Given the description of an element on the screen output the (x, y) to click on. 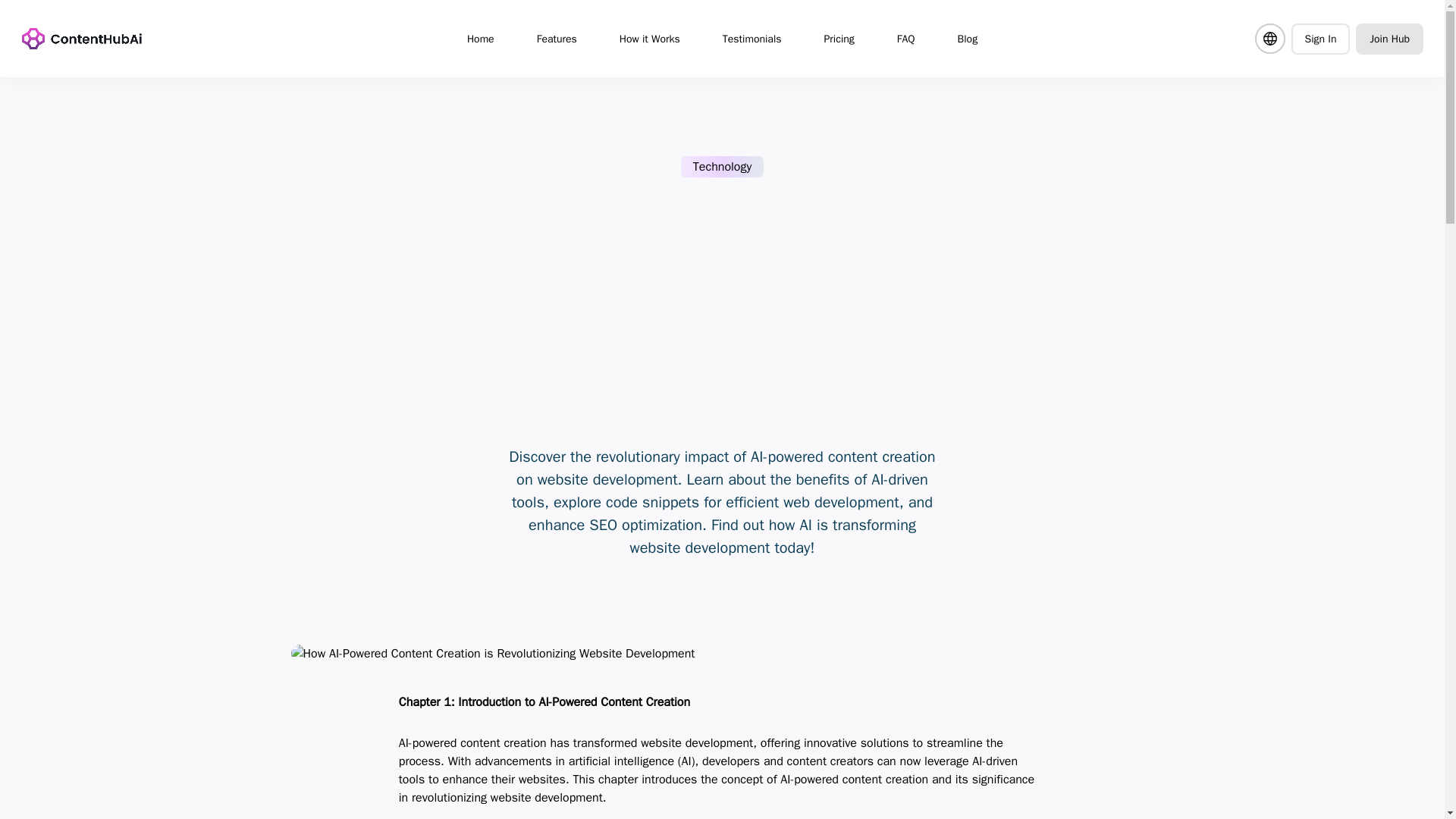
Blog (968, 38)
Technology (721, 166)
Features (556, 38)
FAQ (905, 38)
Pricing (839, 38)
Testimonials (751, 38)
How it Works (649, 38)
Home (481, 38)
Sign In (1319, 38)
Join Hub (1389, 38)
